Given the description of an element on the screen output the (x, y) to click on. 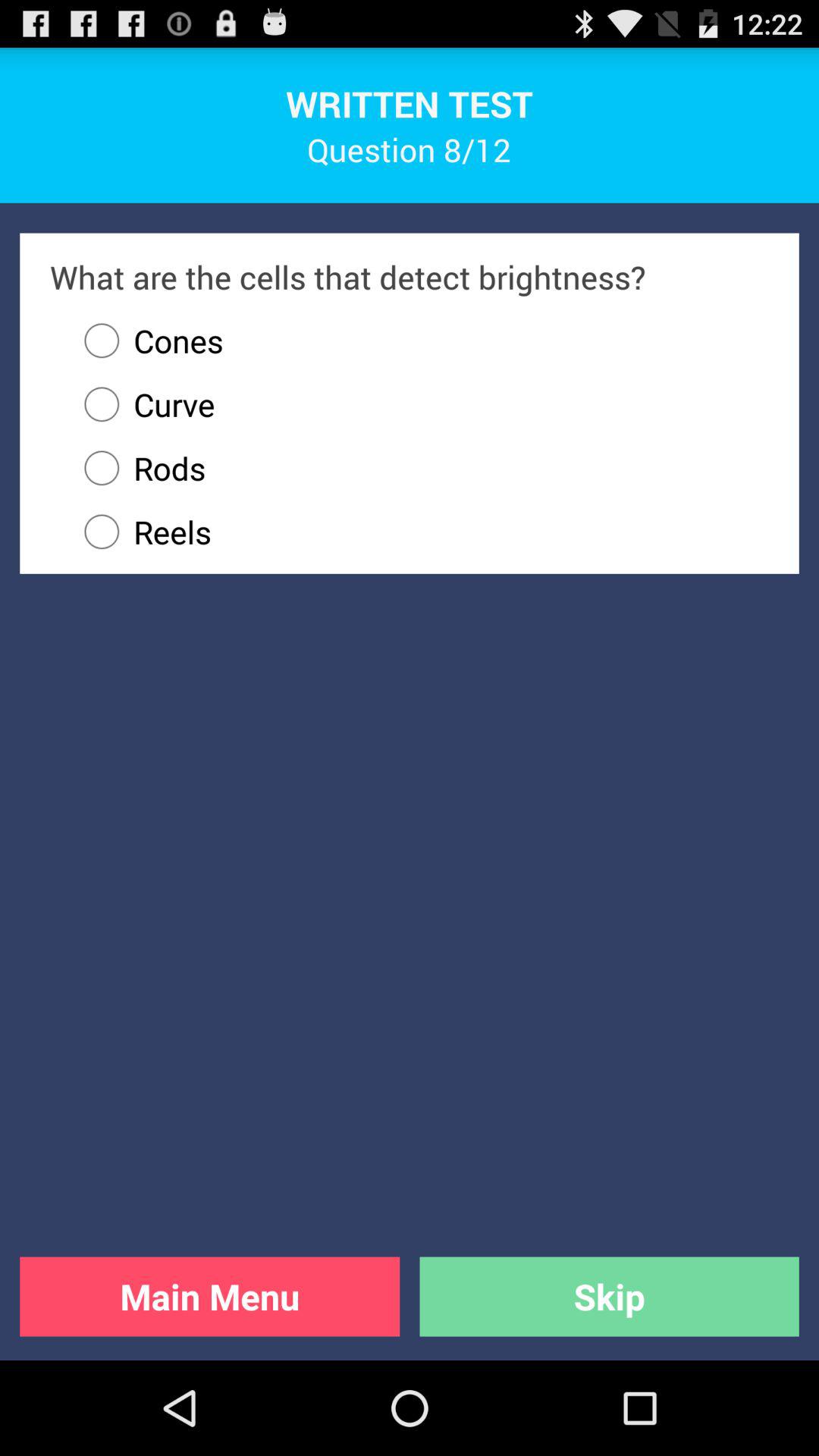
swipe until the rods radio button (418, 467)
